Given the description of an element on the screen output the (x, y) to click on. 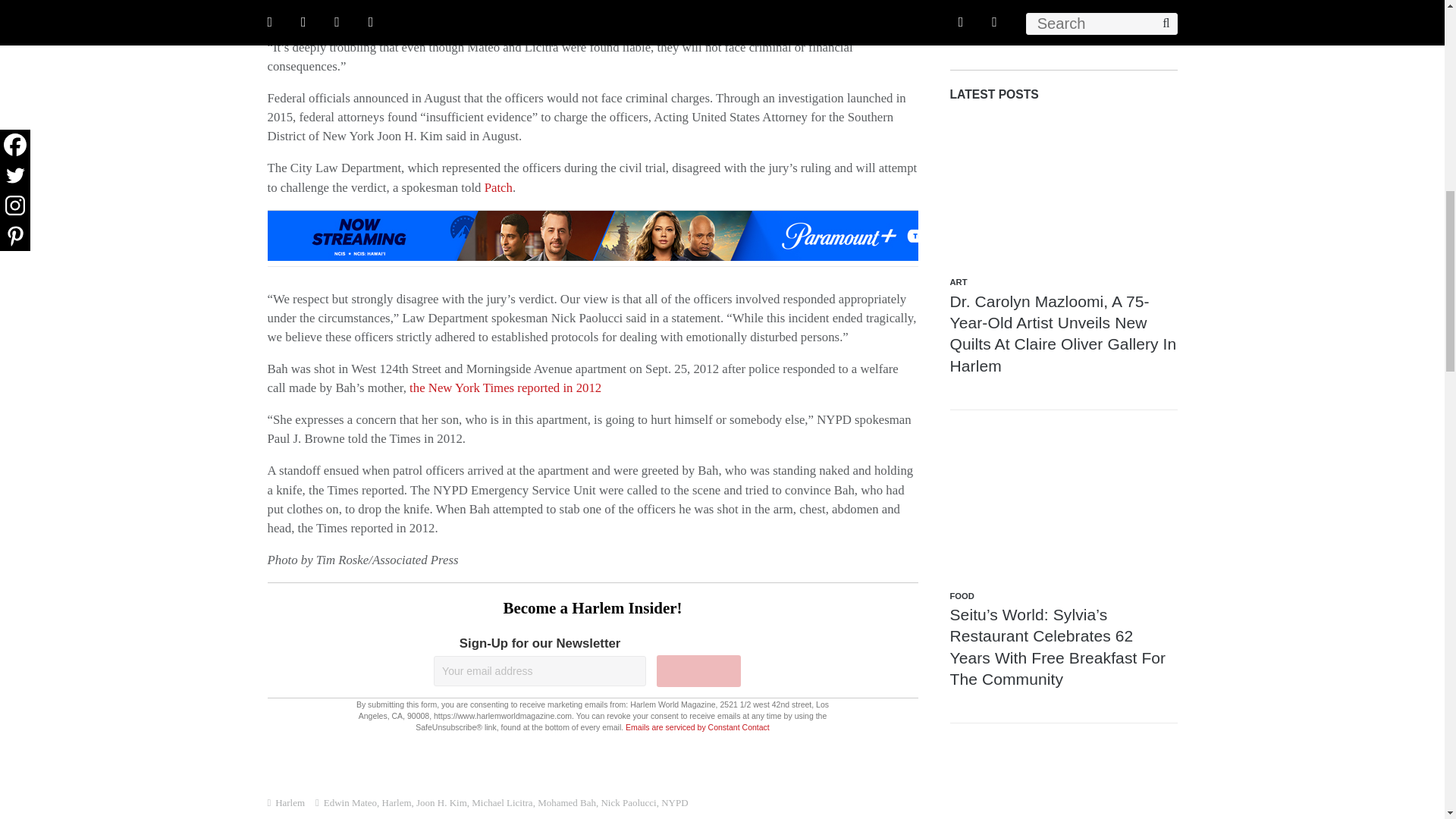
Patch (498, 187)
Harlem (289, 802)
the New York Times reported in 2012 (505, 387)
Sign up (698, 671)
Mohamed (576, 2)
Sign up (698, 671)
Edwin Mateo (350, 802)
Joon H. Kim (441, 802)
Emails are serviced by Constant Contact (698, 727)
